Given the description of an element on the screen output the (x, y) to click on. 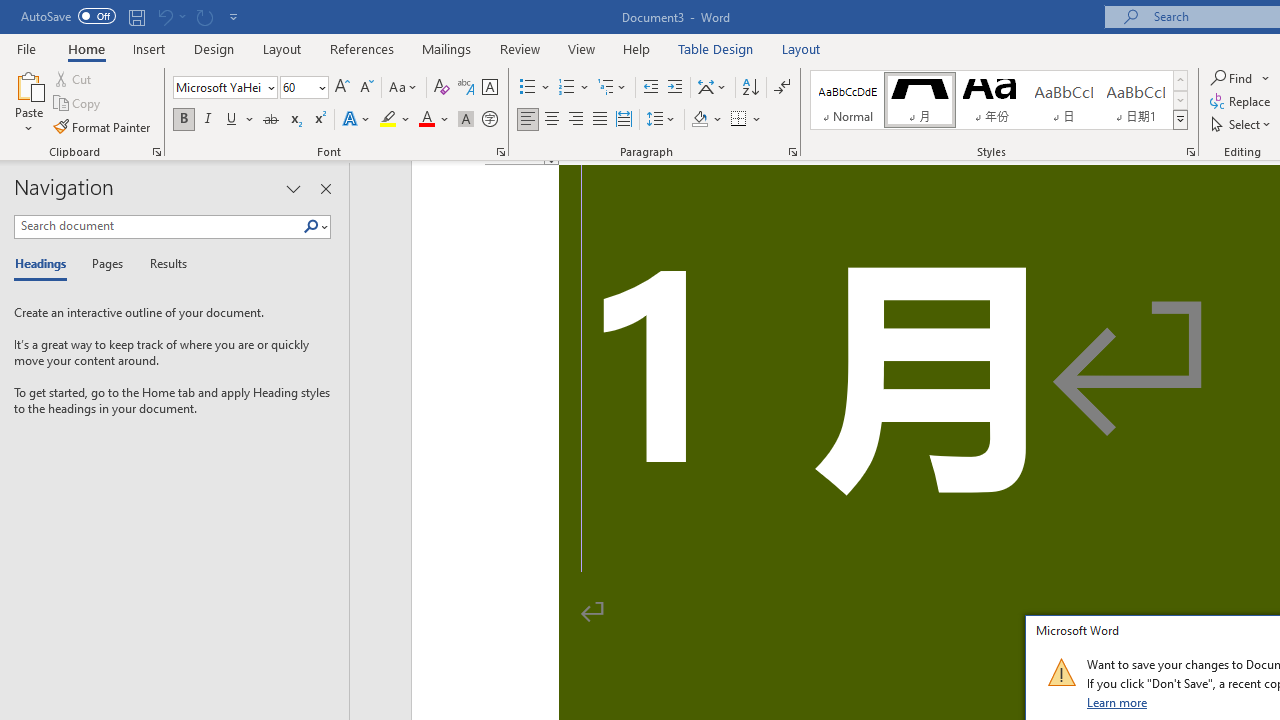
Search (311, 227)
Italic (207, 119)
Font (218, 87)
Decrease Indent (650, 87)
Asian Layout (712, 87)
Customize Quick Access Toolbar (234, 15)
Subscript (294, 119)
System (10, 11)
Shading RGB(0, 0, 0) (699, 119)
AutomationID: QuickStylesGallery (999, 99)
Find (1240, 78)
Enclose Characters... (489, 119)
Bold (183, 119)
Numbering (573, 87)
Text Highlight Color Yellow (388, 119)
